Given the description of an element on the screen output the (x, y) to click on. 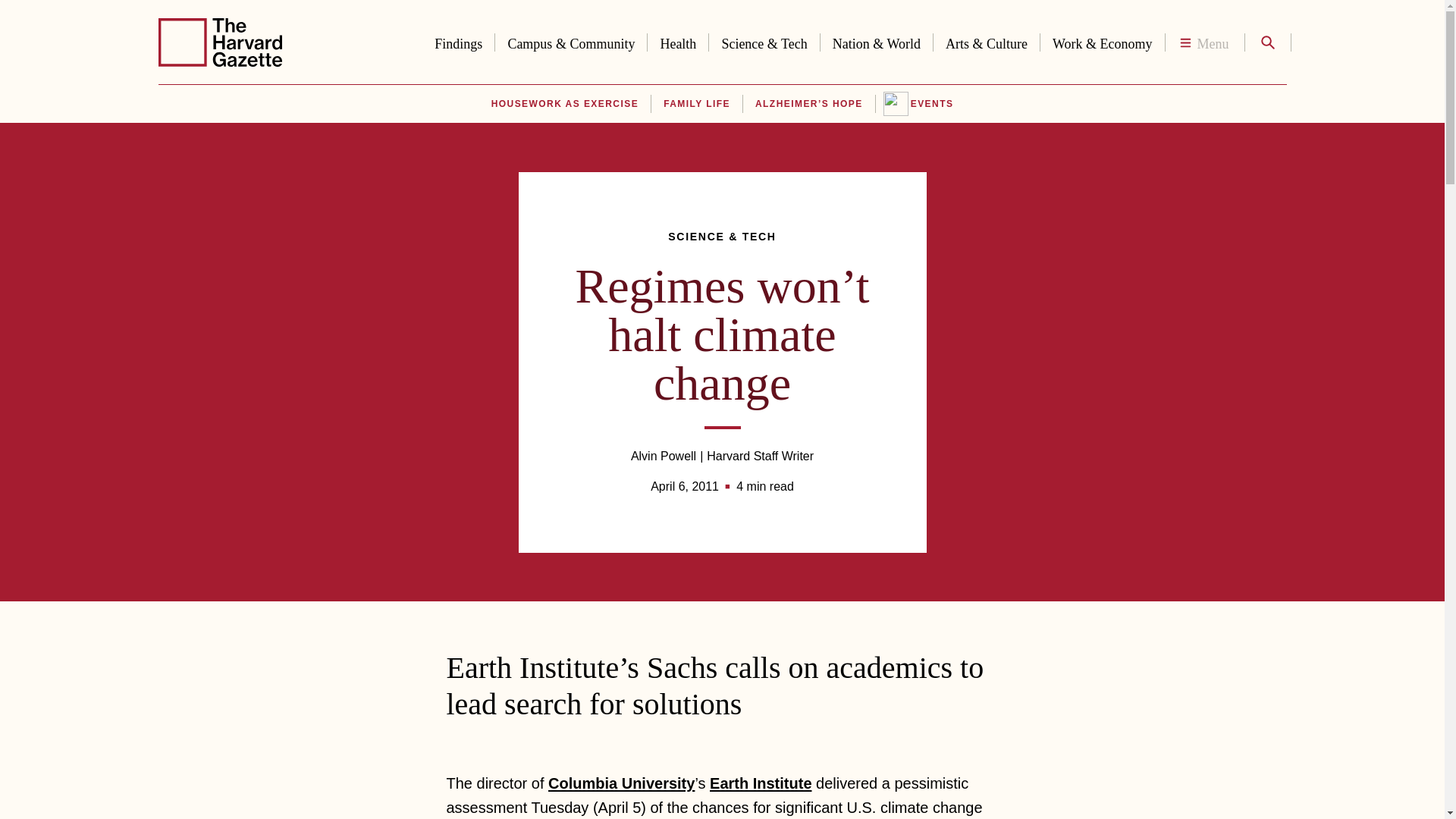
Menu (1204, 42)
FAMILY LIFE (697, 103)
Findings (457, 41)
HOUSEWORK AS EXERCISE (564, 103)
Health (677, 41)
